Given the description of an element on the screen output the (x, y) to click on. 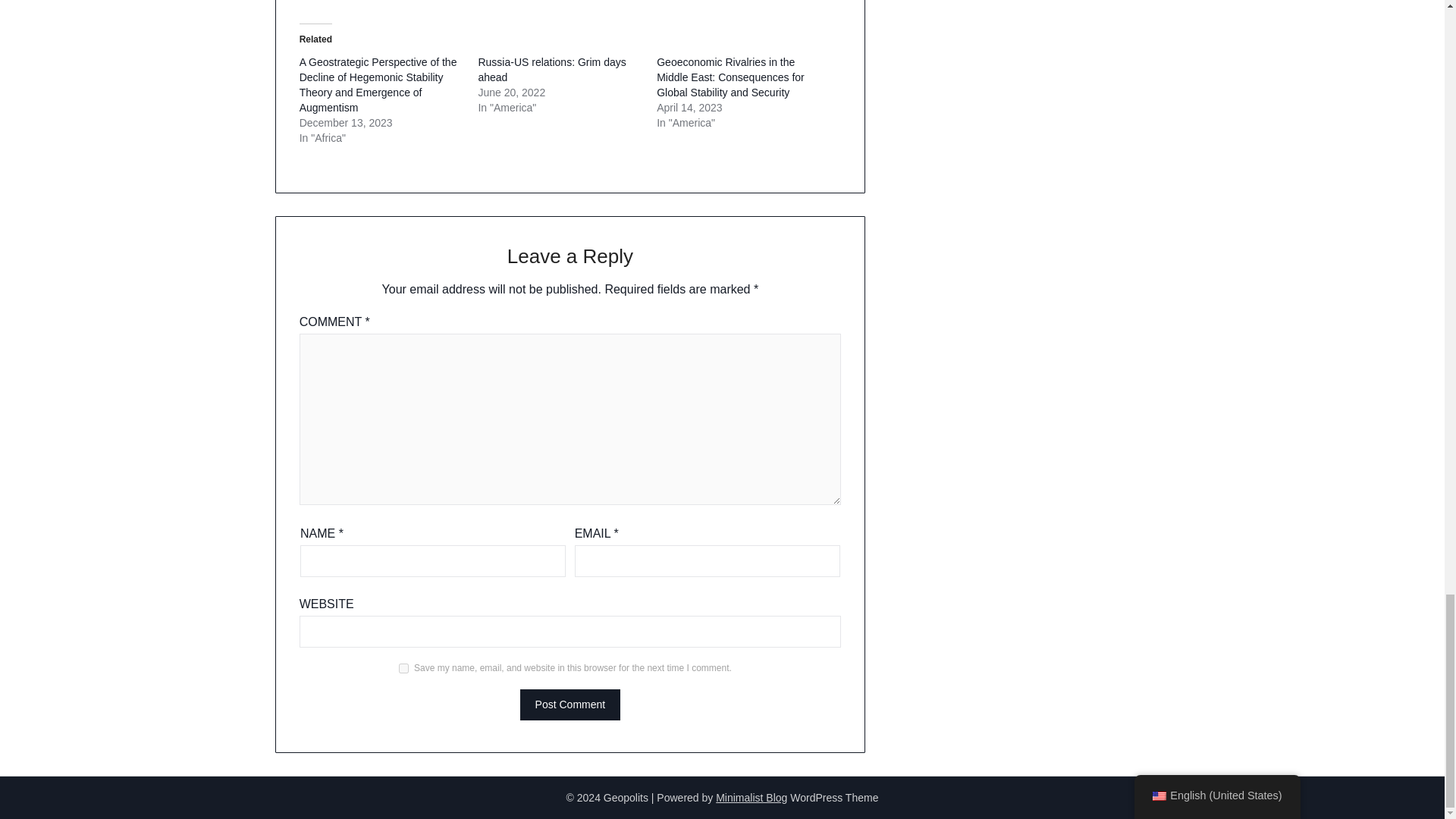
Post Comment (570, 704)
yes (403, 668)
Russia-US relations: Grim days ahead (551, 69)
Minimalist Blog (751, 797)
Russia-US relations: Grim days ahead (551, 69)
Post Comment (570, 704)
